Given the description of an element on the screen output the (x, y) to click on. 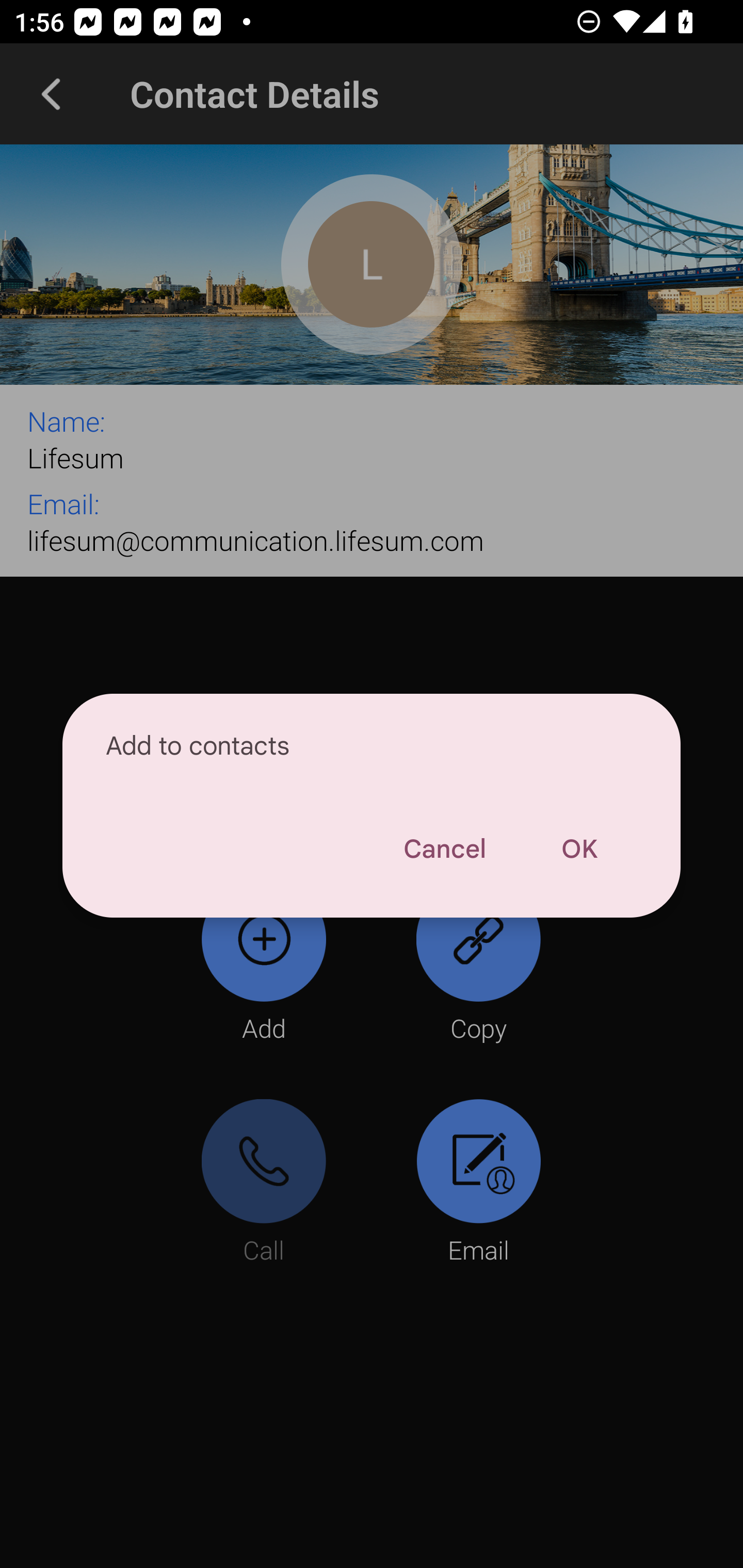
Cancel (444, 848)
OK (579, 848)
